Given the description of an element on the screen output the (x, y) to click on. 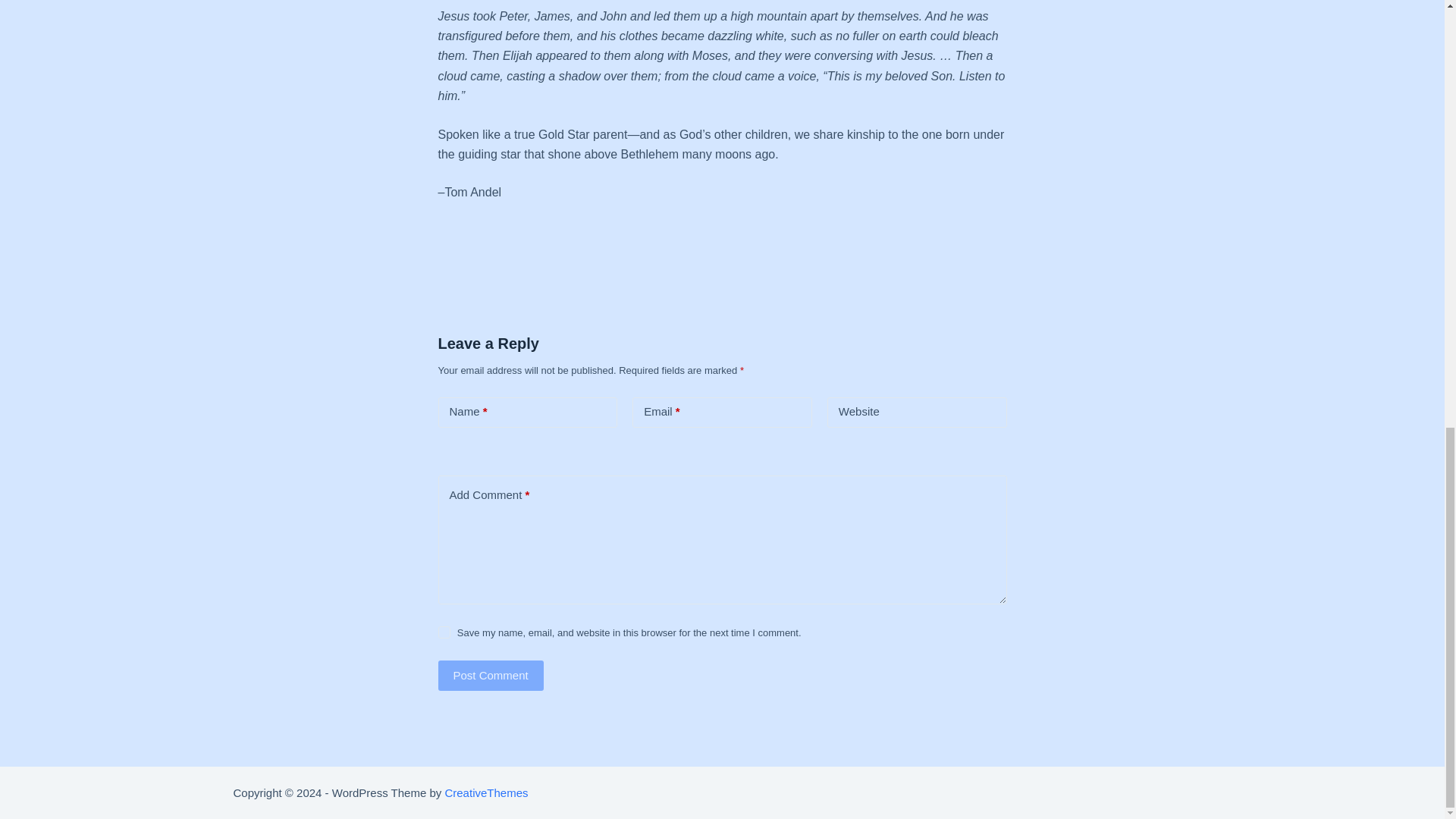
yes (443, 632)
